Given the description of an element on the screen output the (x, y) to click on. 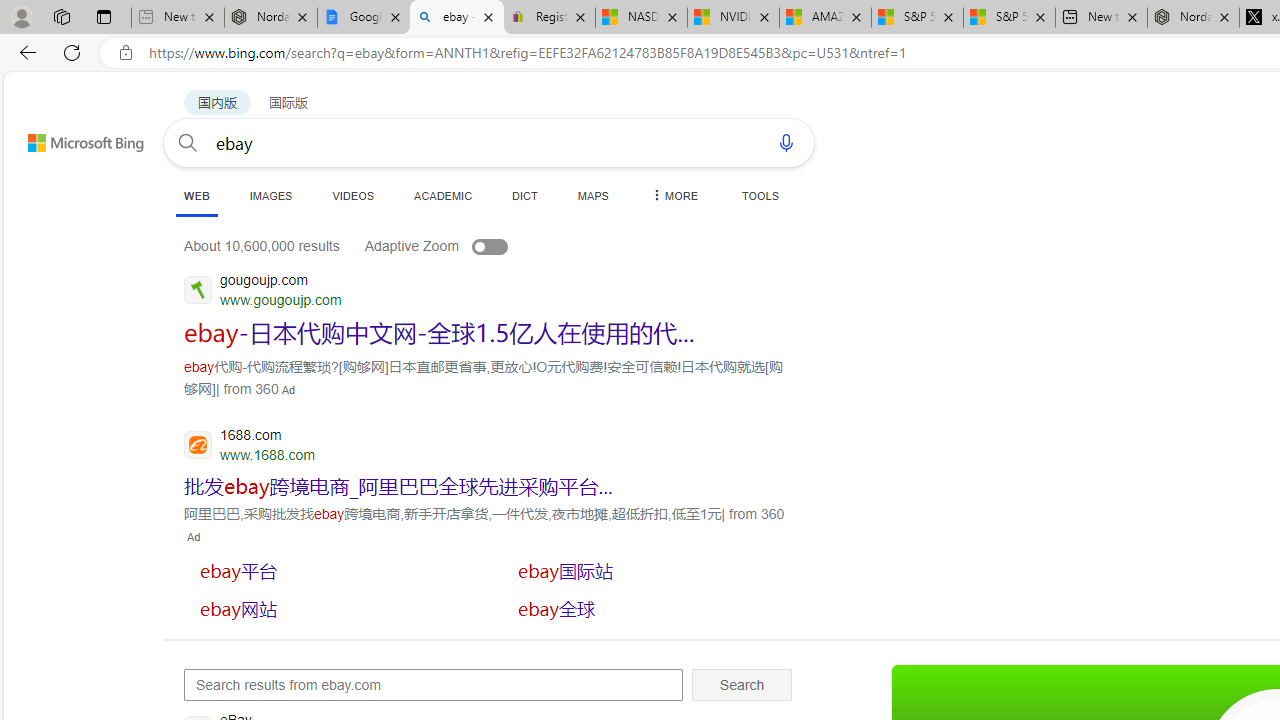
Back to Bing search (73, 138)
MORE (673, 195)
VIDEOS (352, 195)
SERP,5715 (651, 608)
SERP,5714 (333, 608)
S&P 500, Nasdaq end lower, weighed by Nvidia dip | Watch (1008, 17)
IMAGES (270, 195)
Search button (187, 142)
WEB (196, 196)
